Given the description of an element on the screen output the (x, y) to click on. 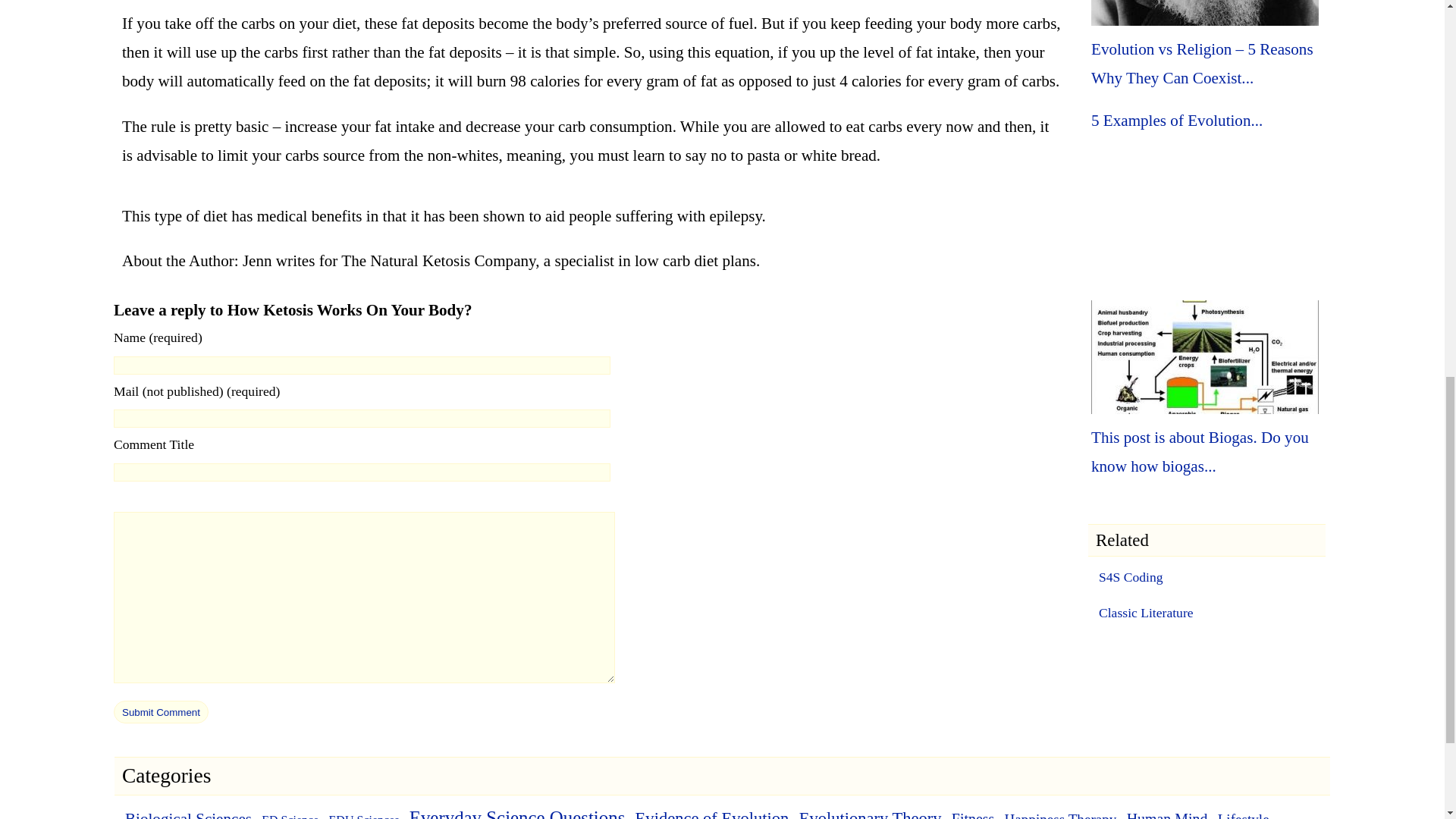
Submit Comment (160, 712)
S4S Coding (1131, 577)
Lifestyle (1243, 815)
Fitness (973, 814)
Happiness Therapy (1060, 815)
Classic Literature (1146, 612)
Evolutionary Theory (870, 814)
ED Science (290, 816)
This post is about Biogas. Do you know how biogas... (1199, 451)
Biological Sciences (188, 814)
